Given the description of an element on the screen output the (x, y) to click on. 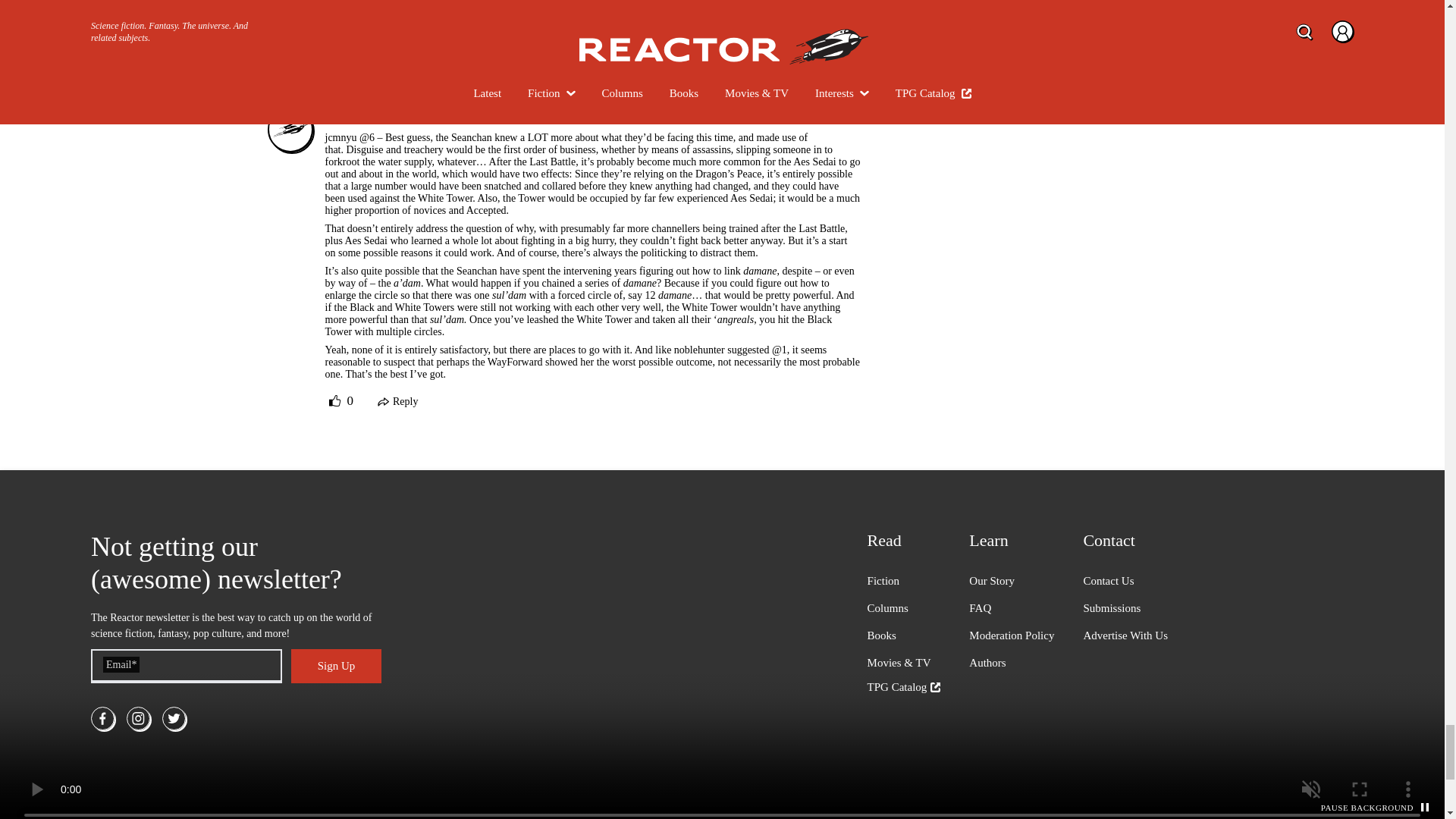
Sign Up (336, 666)
